Given the description of an element on the screen output the (x, y) to click on. 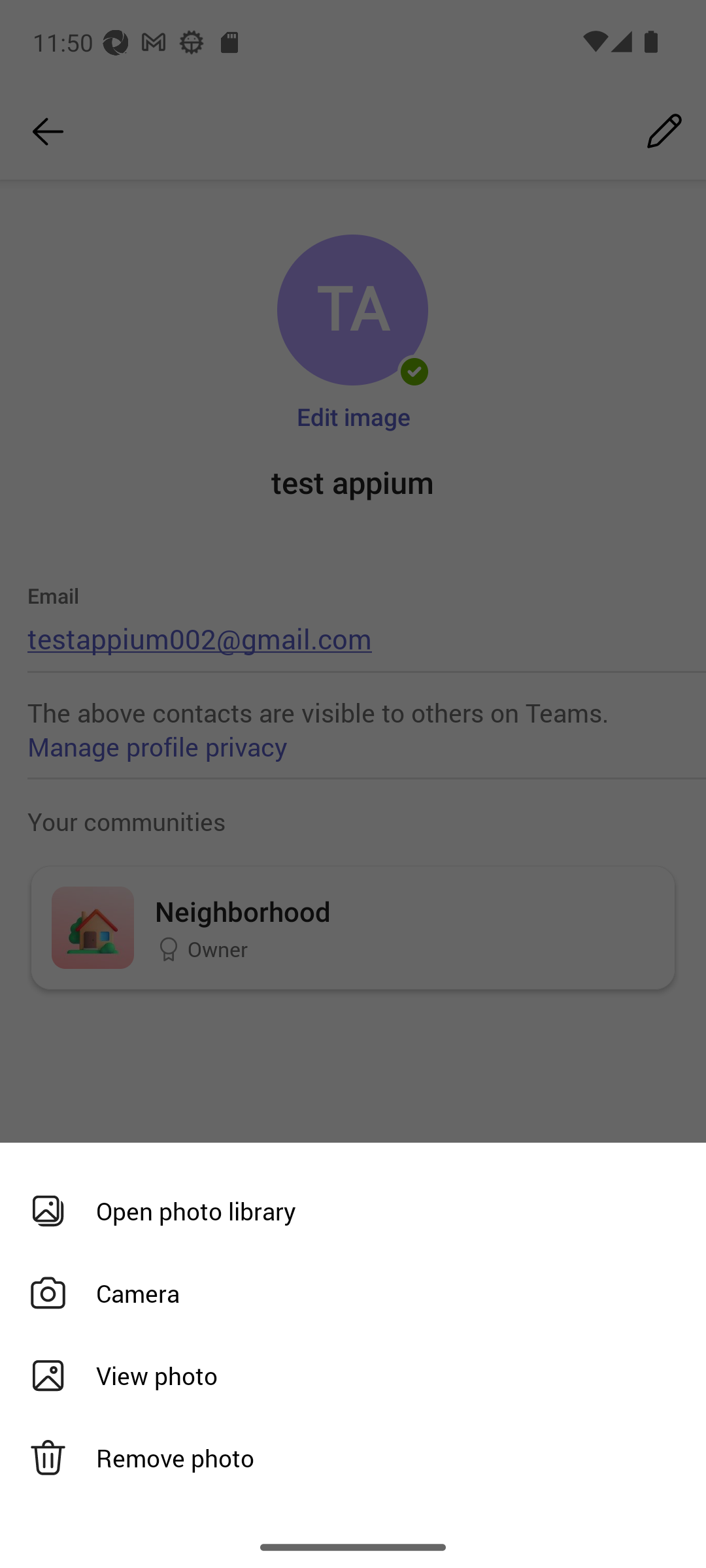
Open photo library (346, 1210)
Camera (346, 1293)
View photo (346, 1375)
Remove photo (346, 1458)
